Given the description of an element on the screen output the (x, y) to click on. 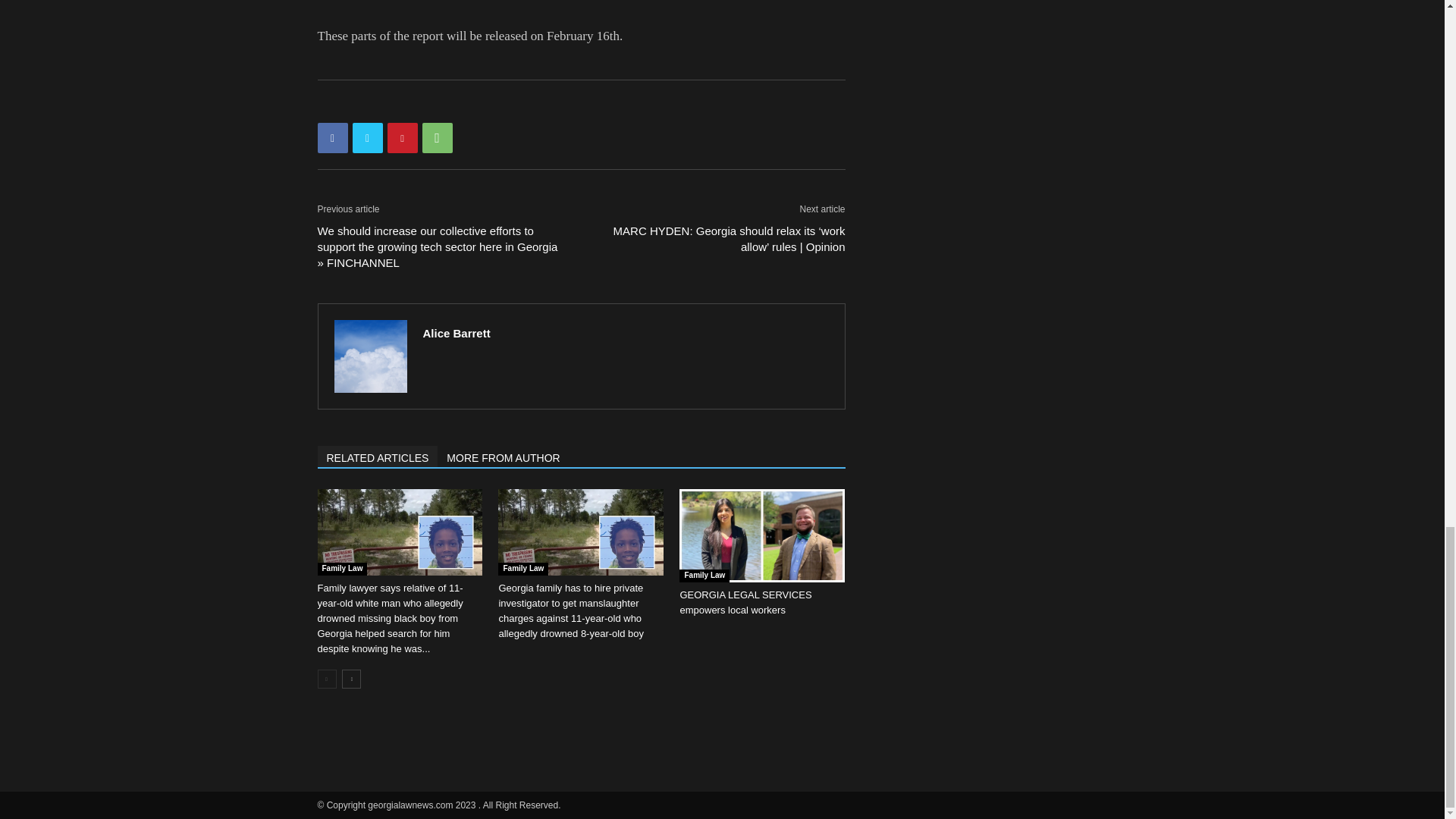
bottomFacebookLike (430, 104)
